Given the description of an element on the screen output the (x, y) to click on. 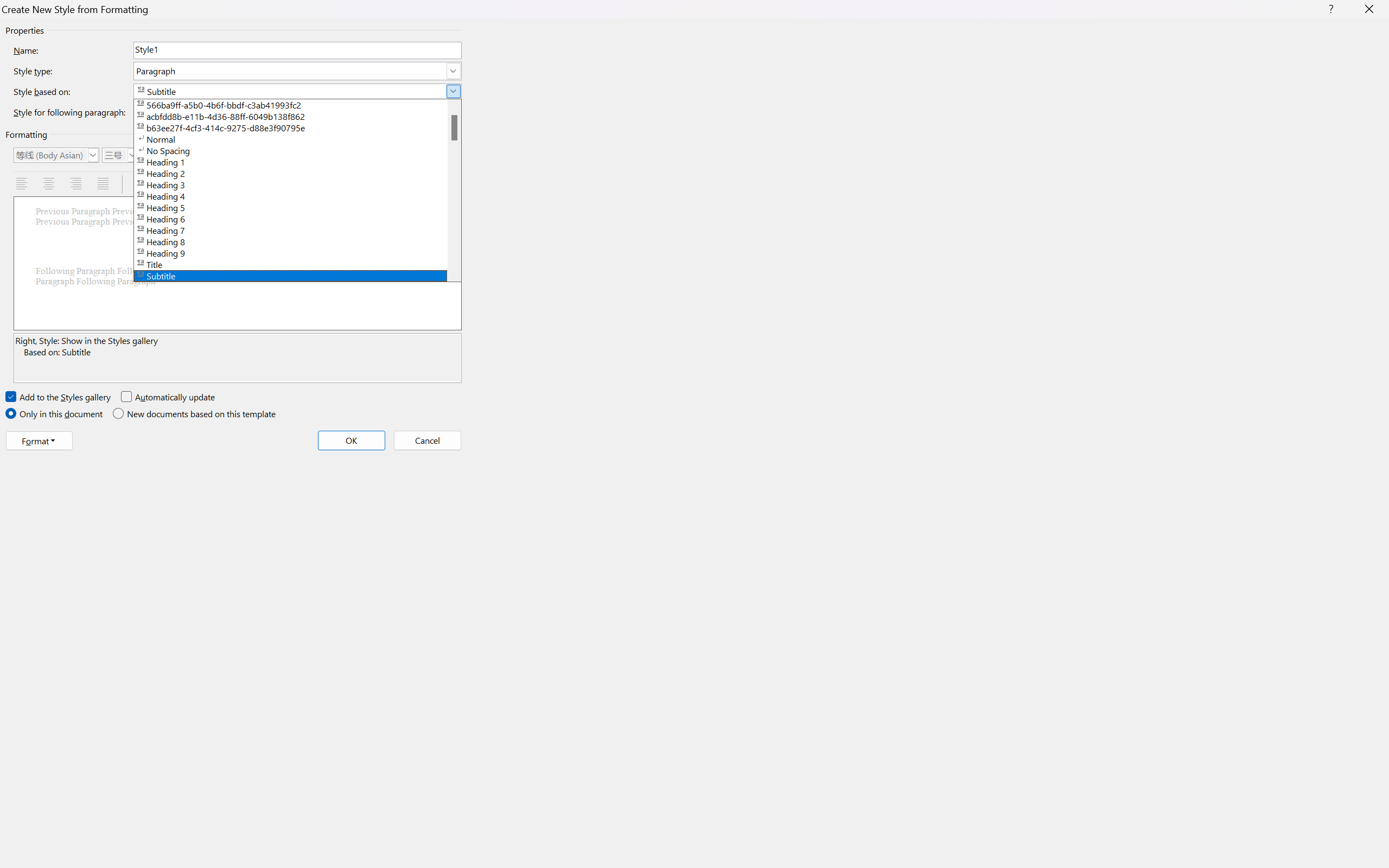
Heading 7 (297, 229)
Heading 5 (297, 206)
RichEdit Control (297, 50)
Heading 4 (297, 195)
Align Right (77, 183)
566ba9ff-a5b0-4b6f-bbdf-c3ab41993fc2 (297, 104)
Cancel (427, 440)
Double Spacing (195, 183)
Add to the Styles gallery (58, 396)
b63ee27f-4cf3-414c-9275-d88e3f90795e (297, 126)
Normal (297, 138)
Heading 8 (297, 240)
